Given the description of an element on the screen output the (x, y) to click on. 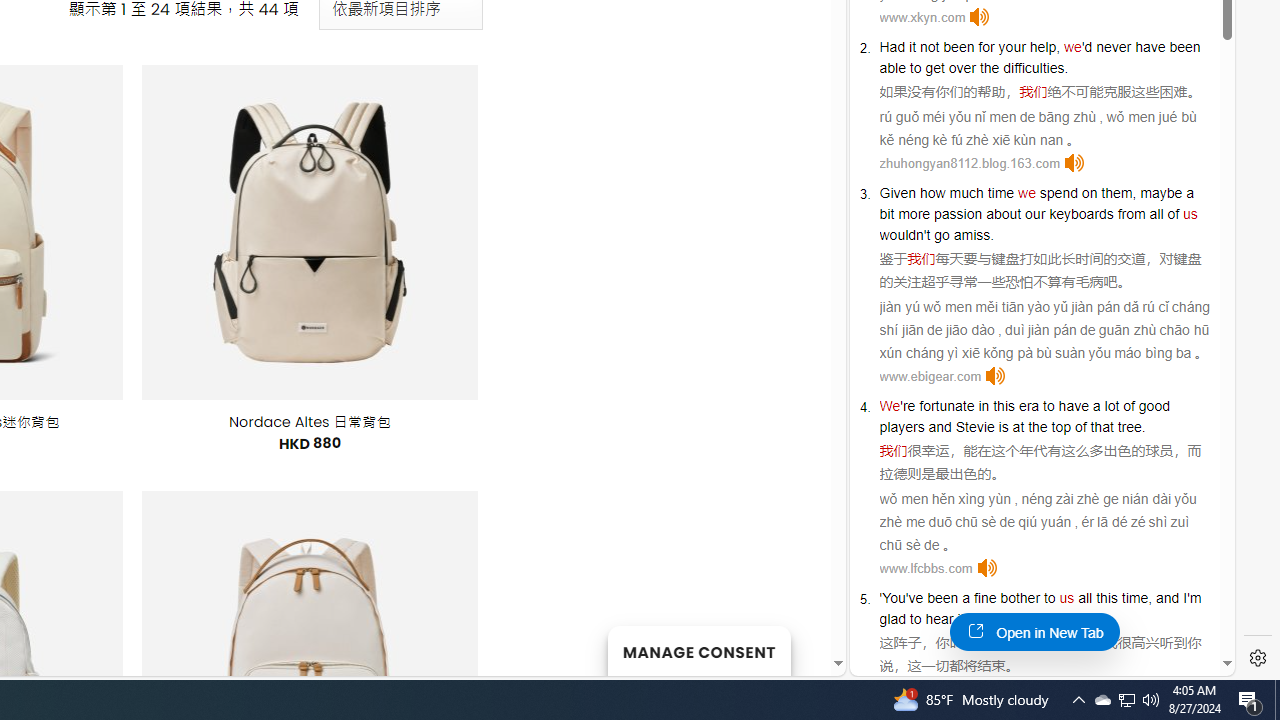
never (1113, 46)
more (914, 213)
I (1184, 597)
from (1131, 213)
, (1150, 597)
on (1089, 192)
